Given the description of an element on the screen output the (x, y) to click on. 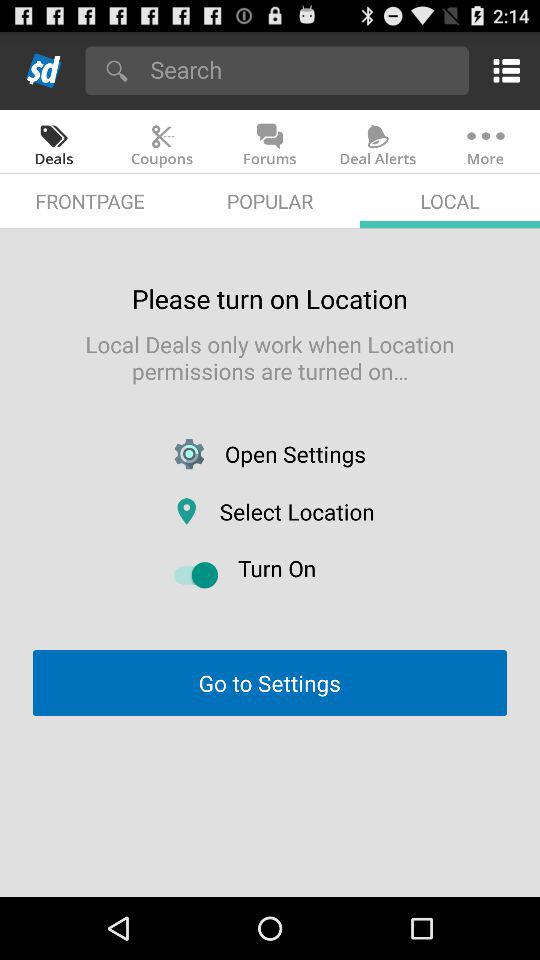
opens the search box (302, 69)
